Given the description of an element on the screen output the (x, y) to click on. 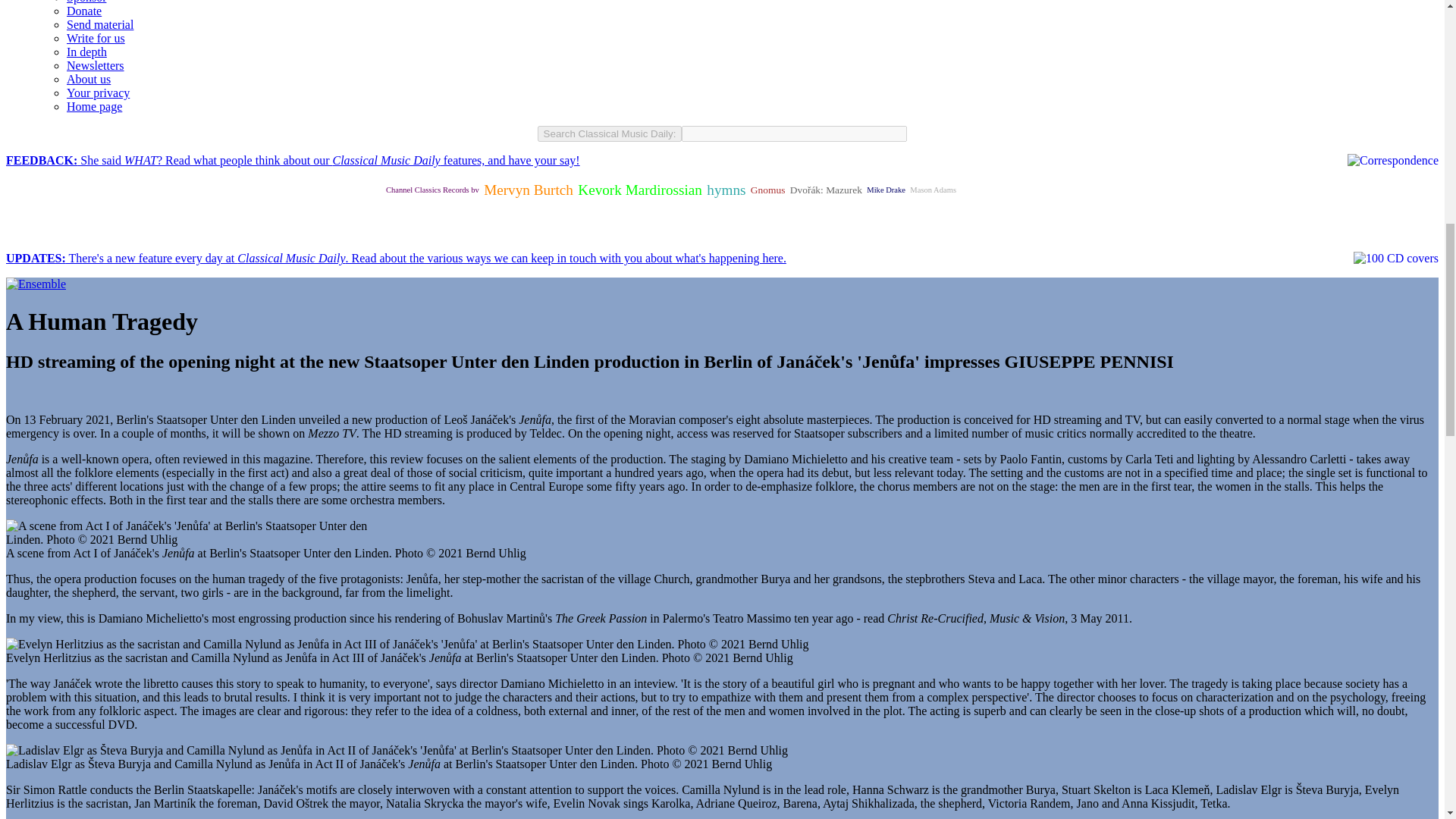
Search Classical Music Daily: (609, 133)
